Given the description of an element on the screen output the (x, y) to click on. 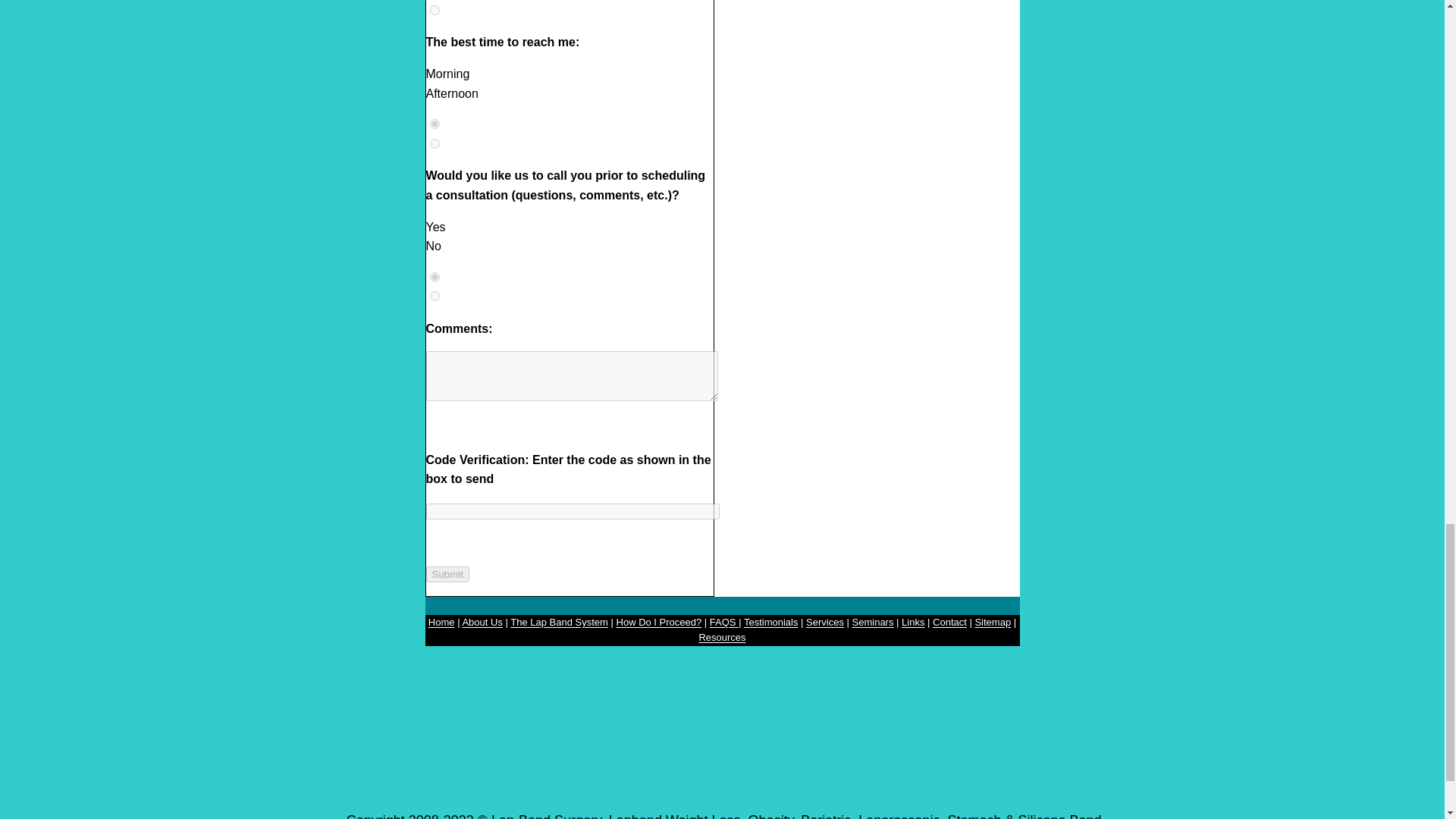
Sitemap (992, 622)
Contact (949, 622)
How Do I Proceed? (658, 622)
FAQS (724, 622)
Resources (721, 636)
About Us (481, 622)
Links (912, 622)
Services (825, 622)
no (434, 296)
Home (441, 622)
Submit (447, 574)
yes (434, 276)
Submit (447, 574)
The Lap Band System (559, 622)
morning (434, 123)
